Given the description of an element on the screen output the (x, y) to click on. 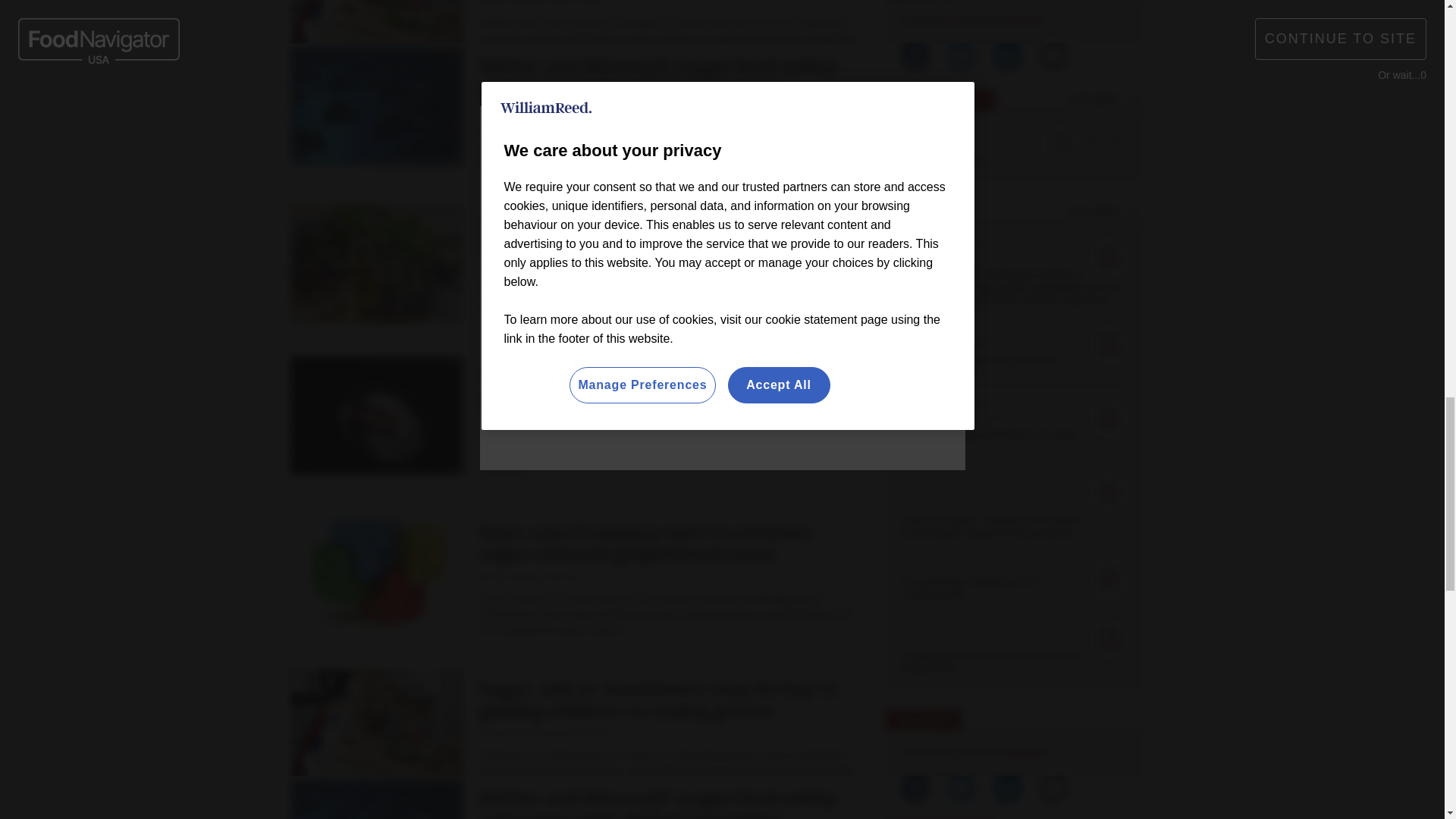
3rd party ad content (570, 29)
